Given the description of an element on the screen output the (x, y) to click on. 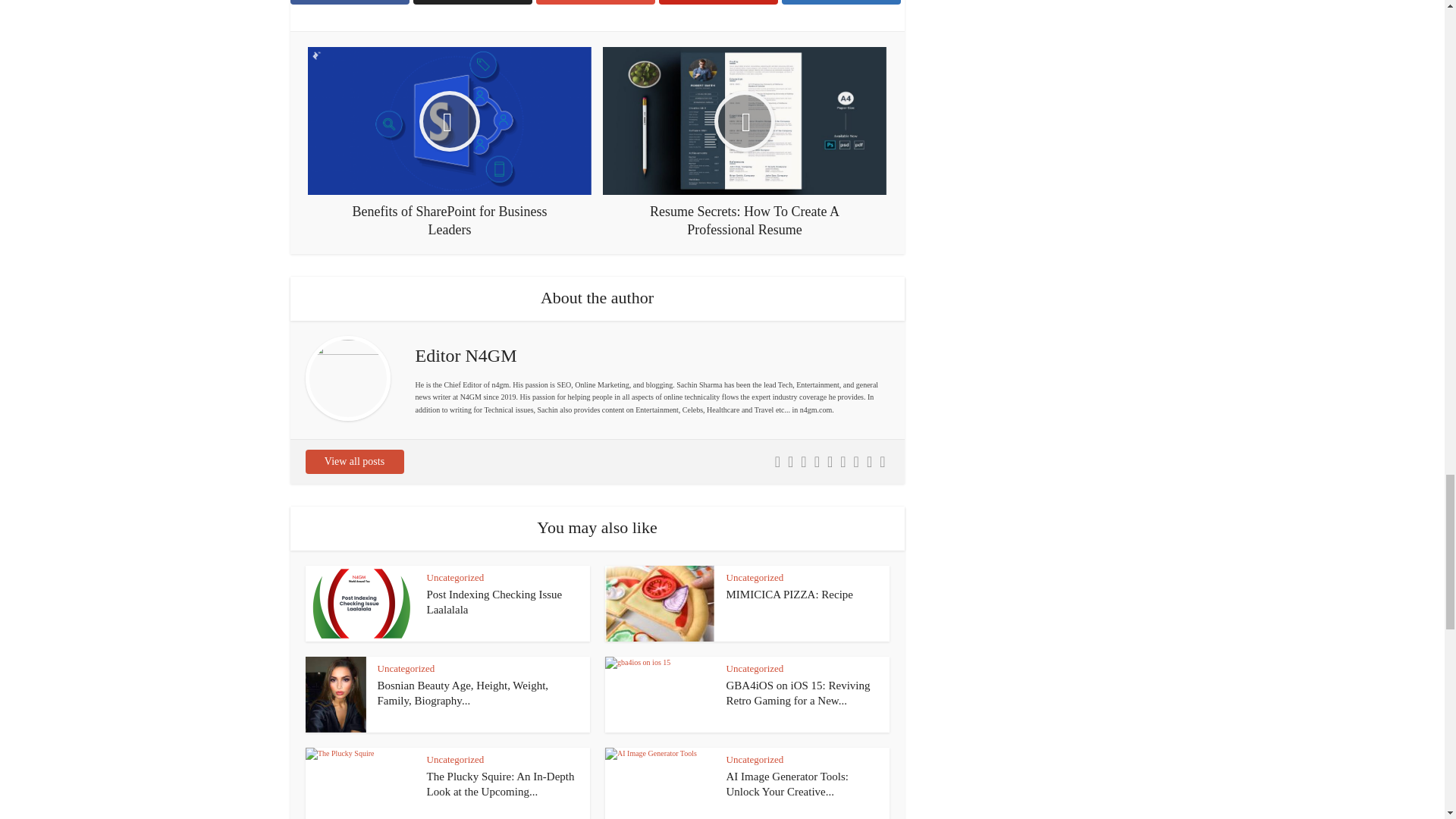
Resume Secrets: How To Create A Professional Resume 3 (744, 120)
Benefits of SharePoint for Business Leaders 2 (449, 120)
